Given the description of an element on the screen output the (x, y) to click on. 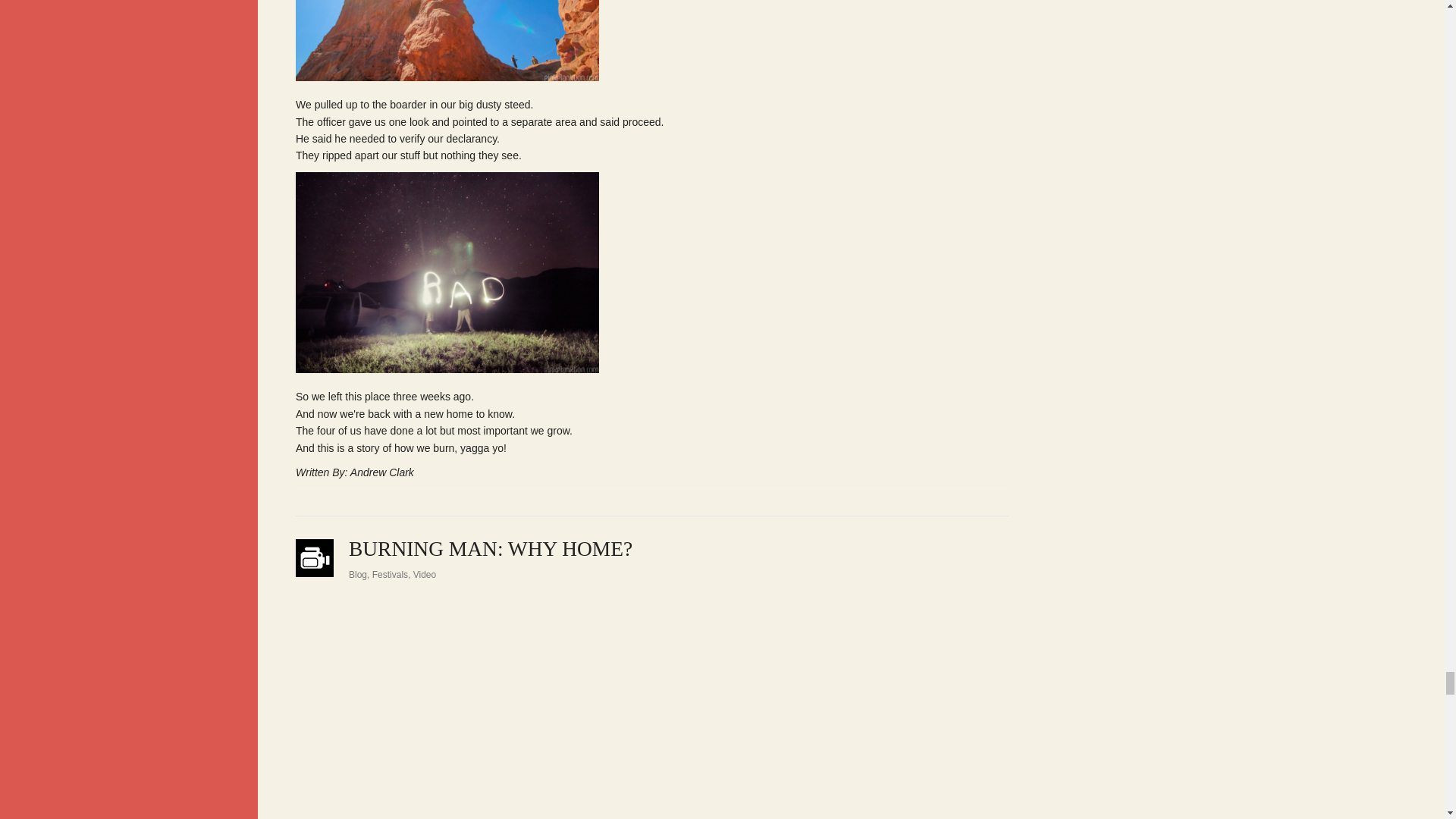
Burning Man: Why Home? (490, 548)
